Given the description of an element on the screen output the (x, y) to click on. 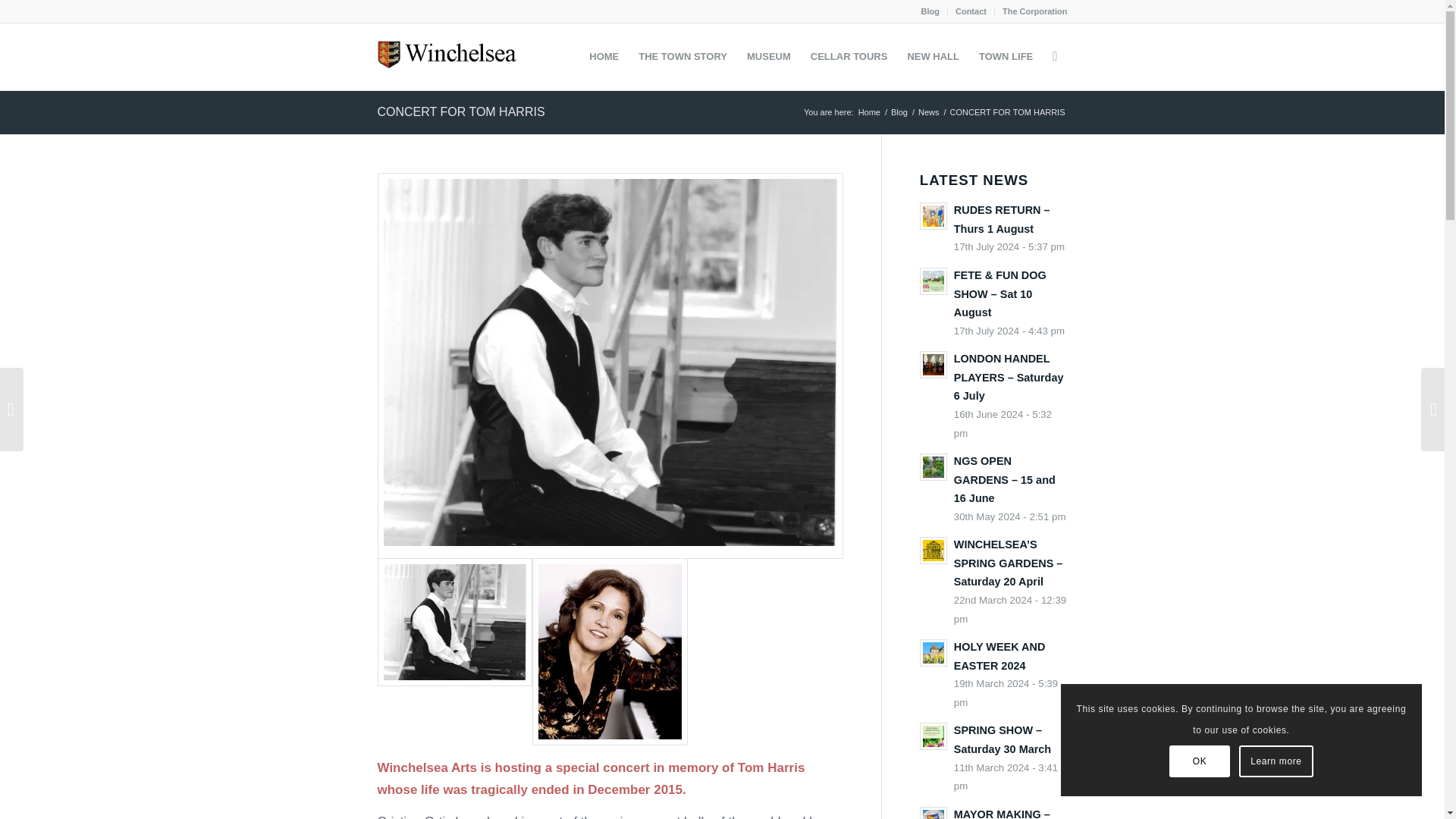
Blog (930, 11)
tom-harris-copy (454, 621)
MUSEUM (768, 56)
Blog (899, 112)
The Corporation (1035, 11)
THE TOWN STORY (682, 56)
NEW HALL (932, 56)
Contact (971, 11)
Winchelsea (869, 112)
CELLAR TOURS (849, 56)
Permanent Link: CONCERT FOR TOM HARRIS (460, 111)
